Given the description of an element on the screen output the (x, y) to click on. 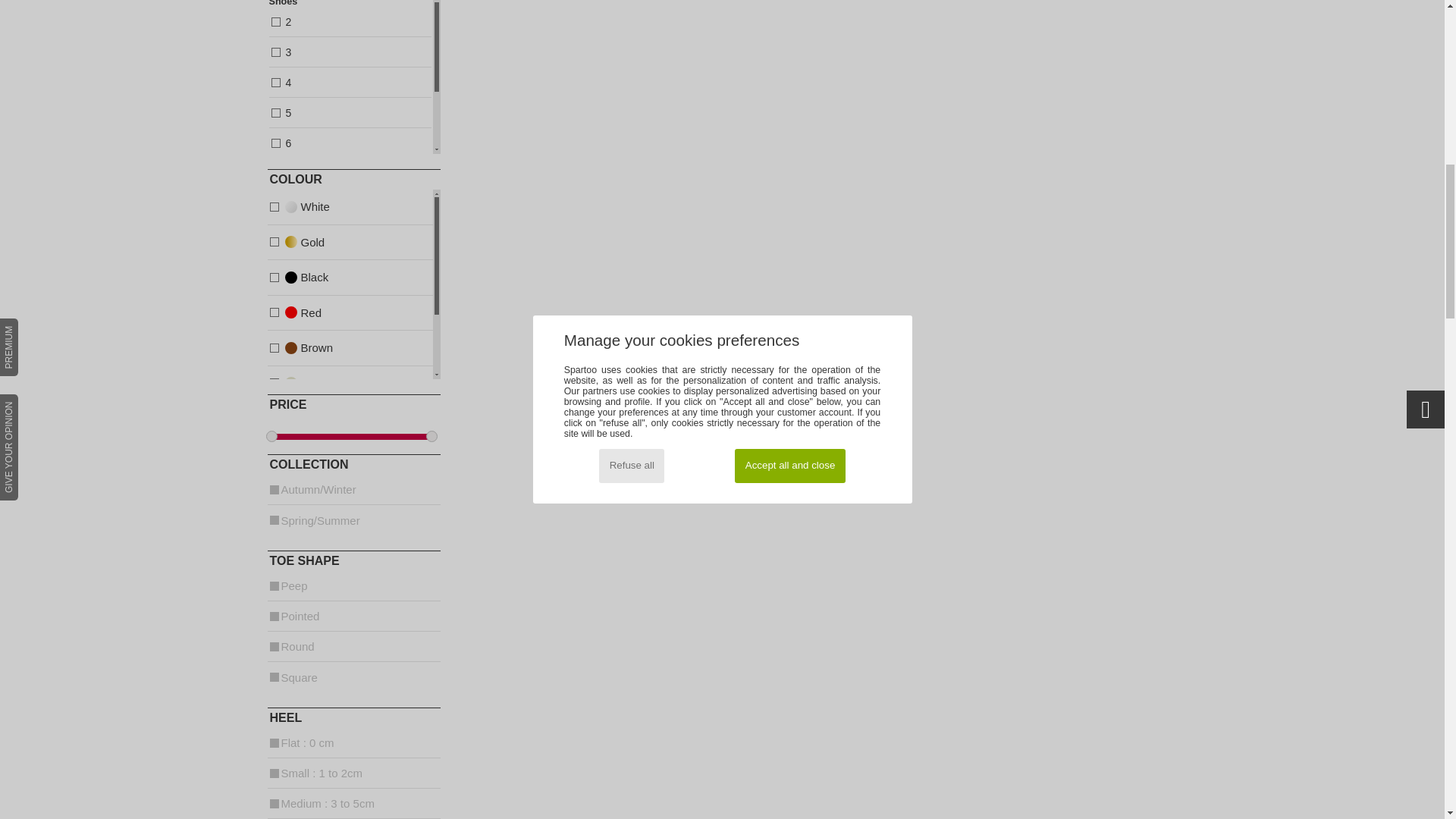
Brown (292, 349)
Gold (292, 242)
White (292, 208)
Grey (292, 419)
Red (352, 76)
Beige (292, 313)
Pink (292, 384)
Black (292, 454)
